Given the description of an element on the screen output the (x, y) to click on. 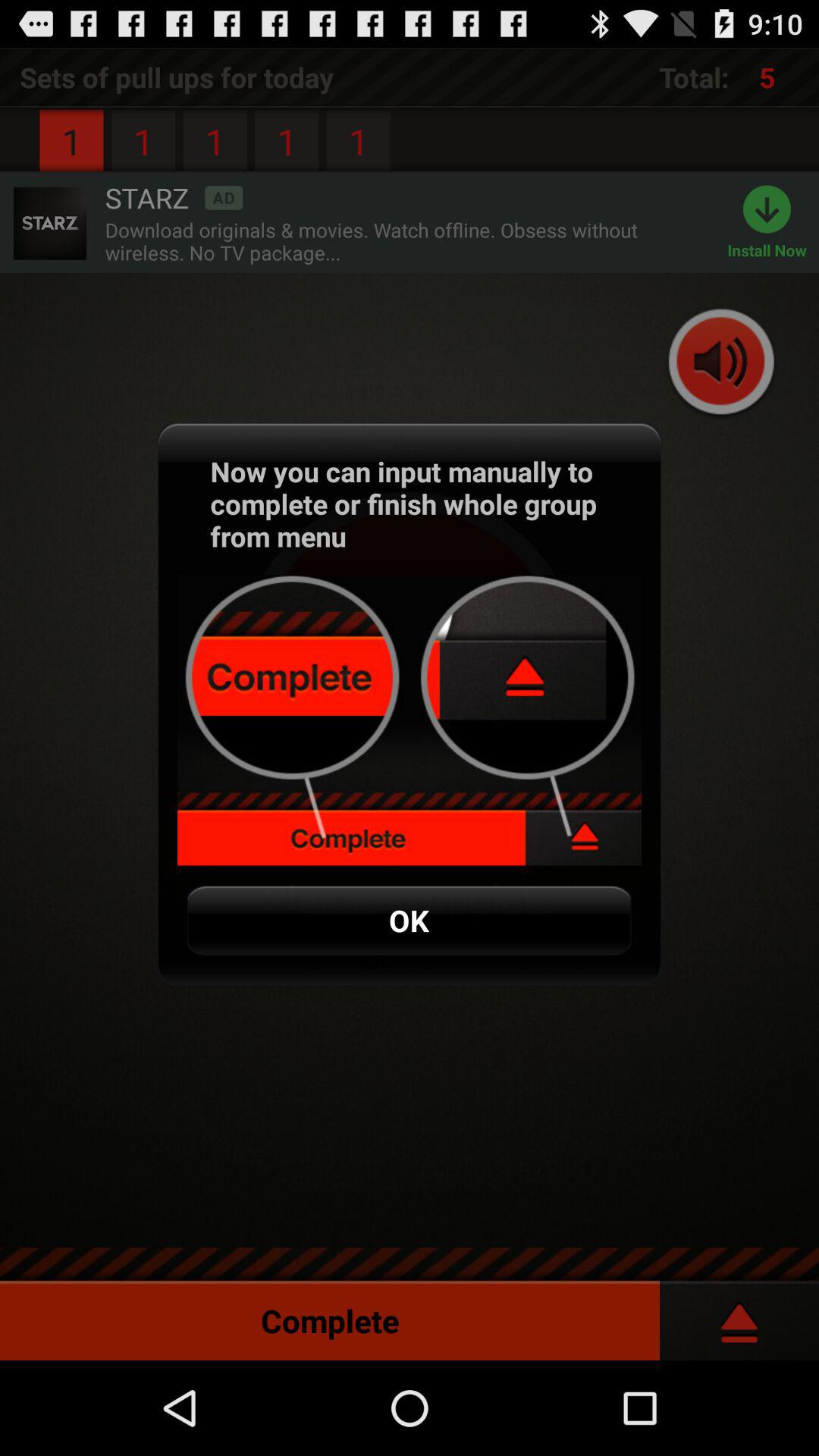
swipe until ok (409, 920)
